Given the description of an element on the screen output the (x, y) to click on. 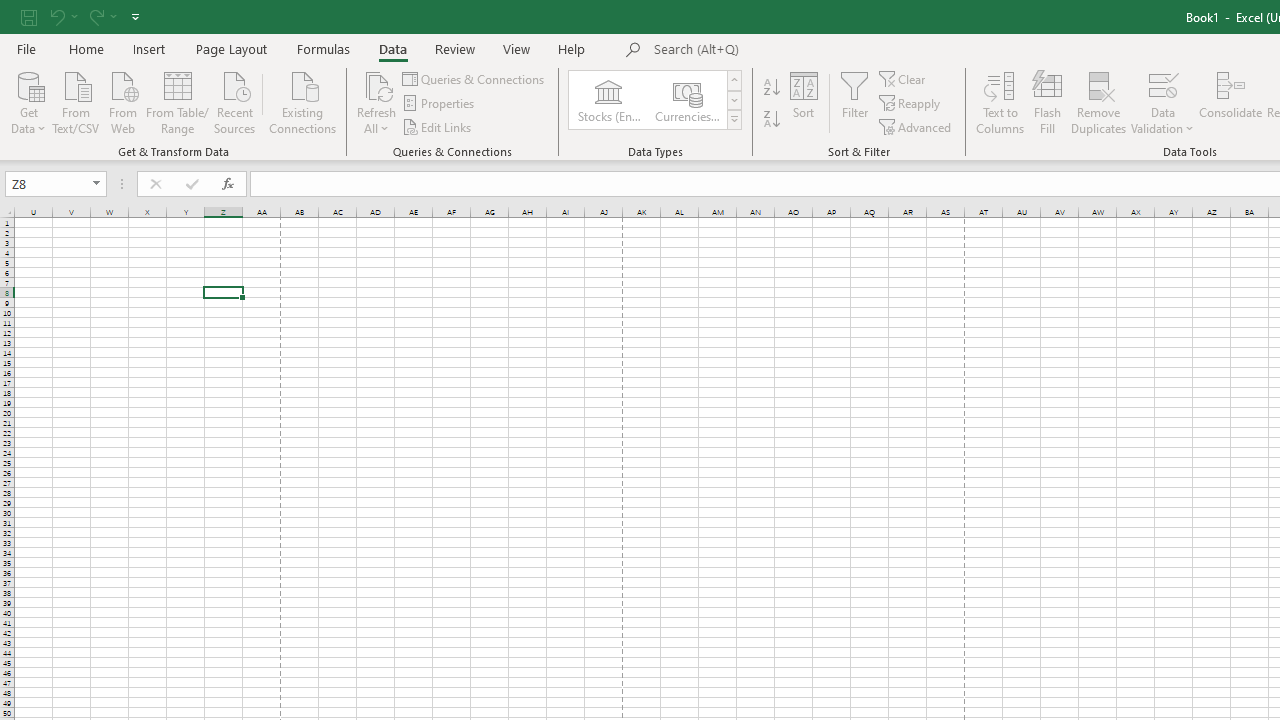
Advanced... (916, 126)
Stocks (English) (608, 100)
From Web (122, 101)
Reapply (911, 103)
AutomationID: ConvertToLinkedEntity (655, 99)
Filter (854, 102)
From Text/CSV (75, 101)
